Given the description of an element on the screen output the (x, y) to click on. 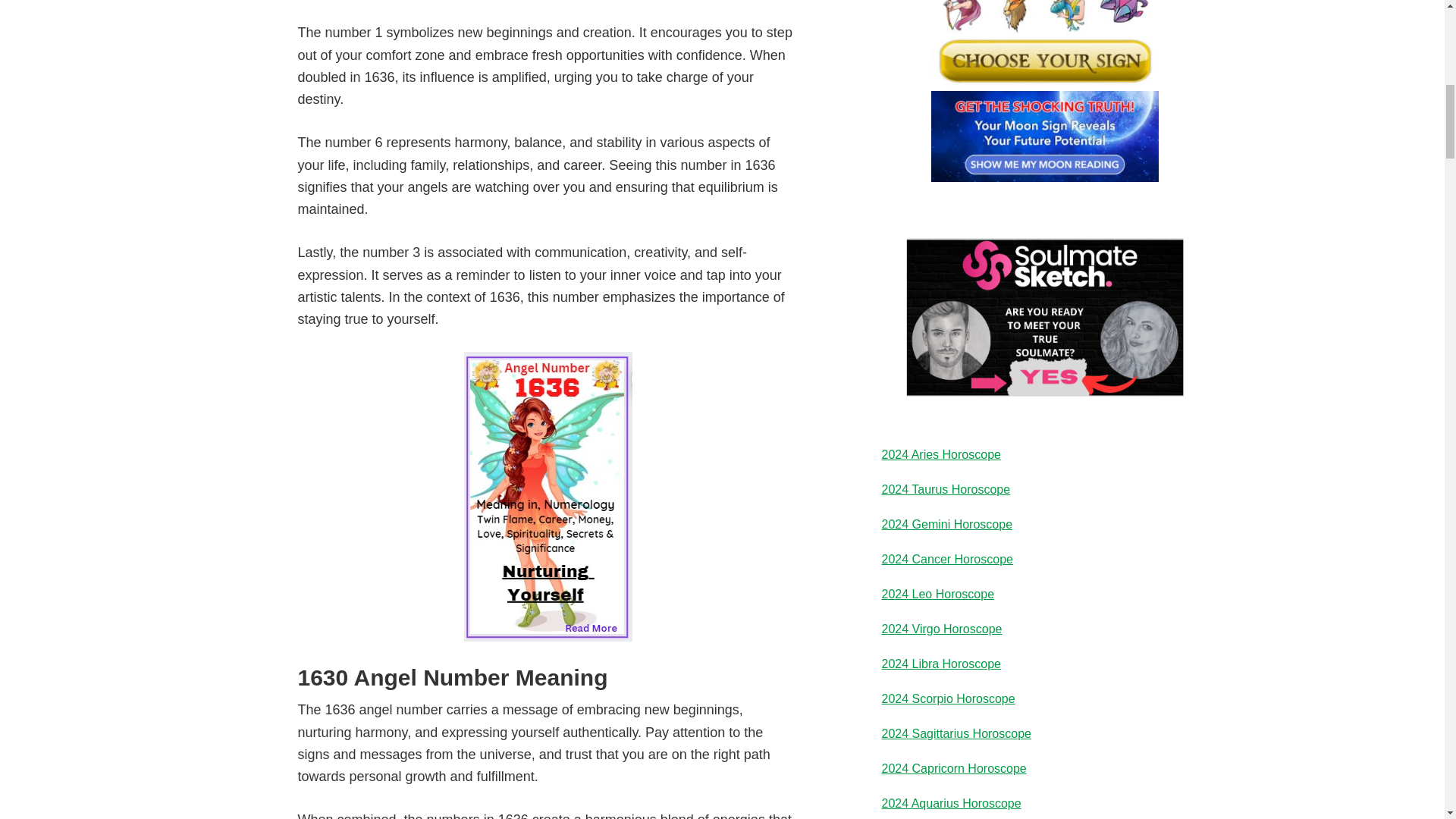
2024 Leo Horoscope (937, 594)
2024 Gemini Horoscope (945, 523)
2024 Cancer Horoscope (945, 558)
2024 Sagittarius Horoscope (955, 733)
2024 Aries Horoscope (940, 454)
2024 Taurus Horoscope (945, 489)
2024 Libra Horoscope (940, 663)
2024 Scorpio Horoscope (947, 698)
2024 Capricorn Horoscope (953, 768)
2024 Virgo Horoscope (940, 628)
